Given the description of an element on the screen output the (x, y) to click on. 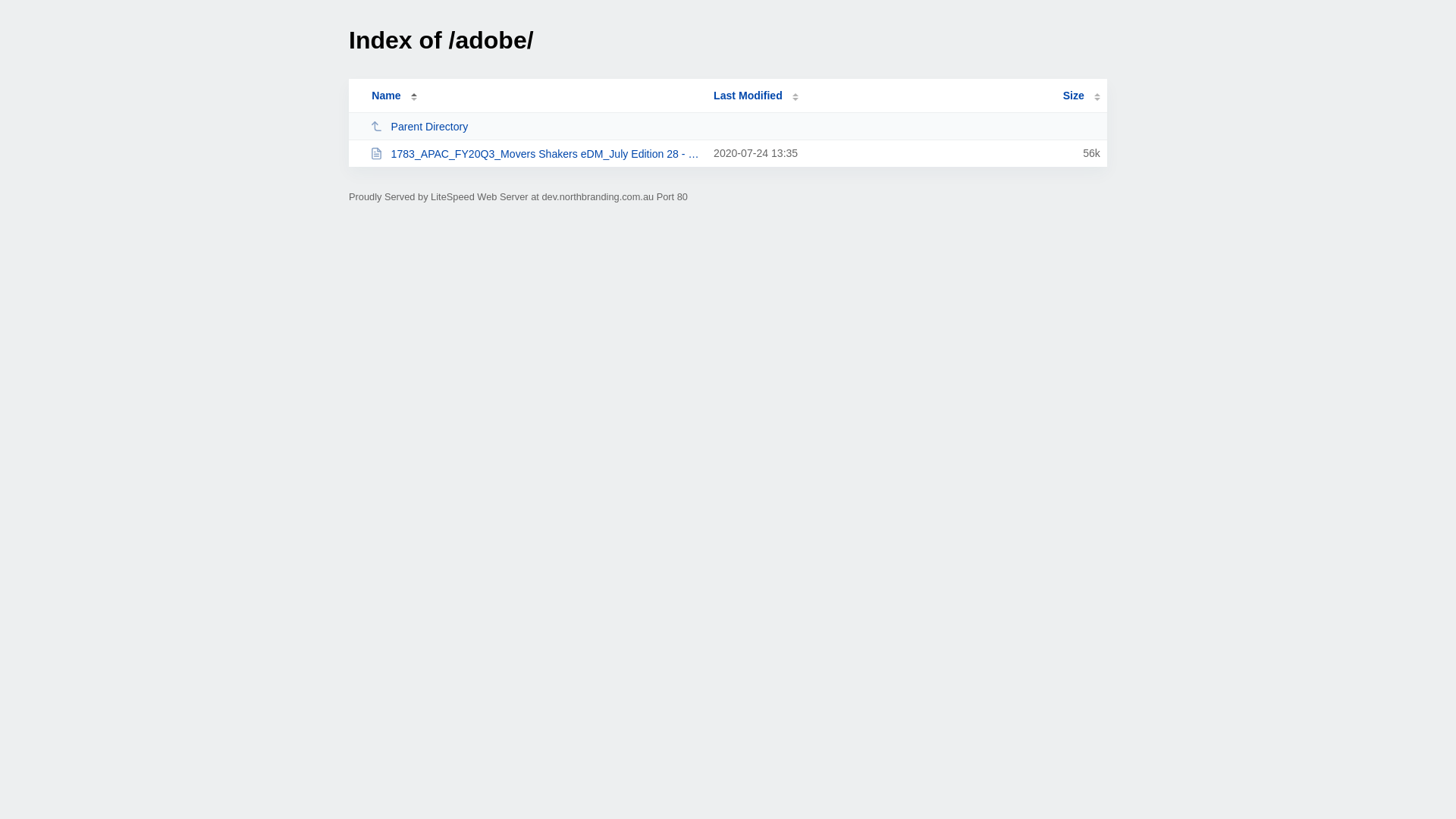
Size Element type: text (1081, 95)
Last Modified Element type: text (755, 95)
Name Element type: text (385, 95)
Parent Directory Element type: text (534, 125)
